Given the description of an element on the screen output the (x, y) to click on. 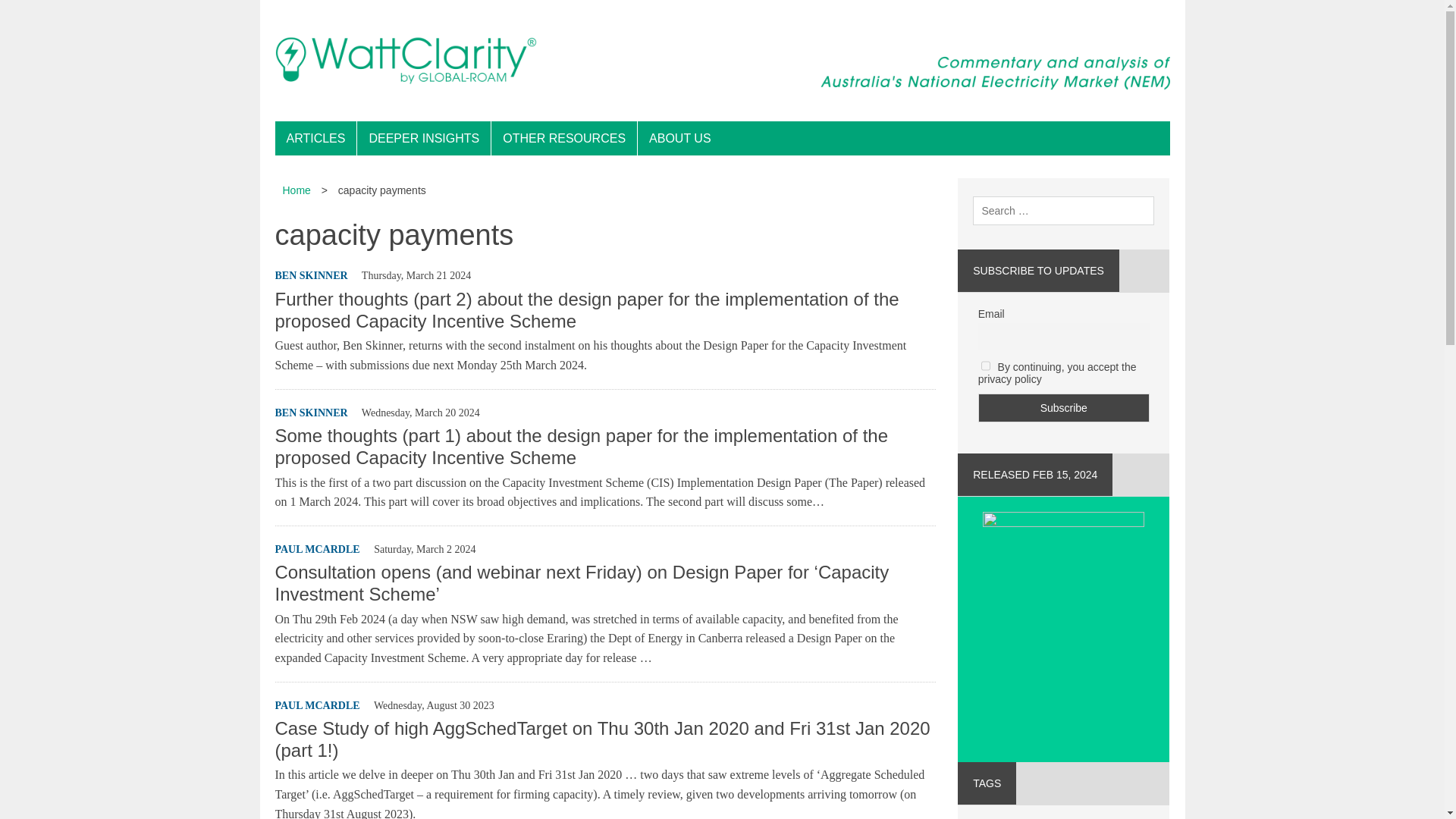
ARTICLES (315, 138)
DEEPER INSIGHTS (423, 138)
PAUL MCARDLE (317, 704)
PAUL MCARDLE (317, 549)
BEN SKINNER (311, 412)
Subscribe (1064, 407)
OTHER RESOURCES (564, 138)
BEN SKINNER (311, 275)
WattClarity (722, 60)
on (985, 366)
